Given the description of an element on the screen output the (x, y) to click on. 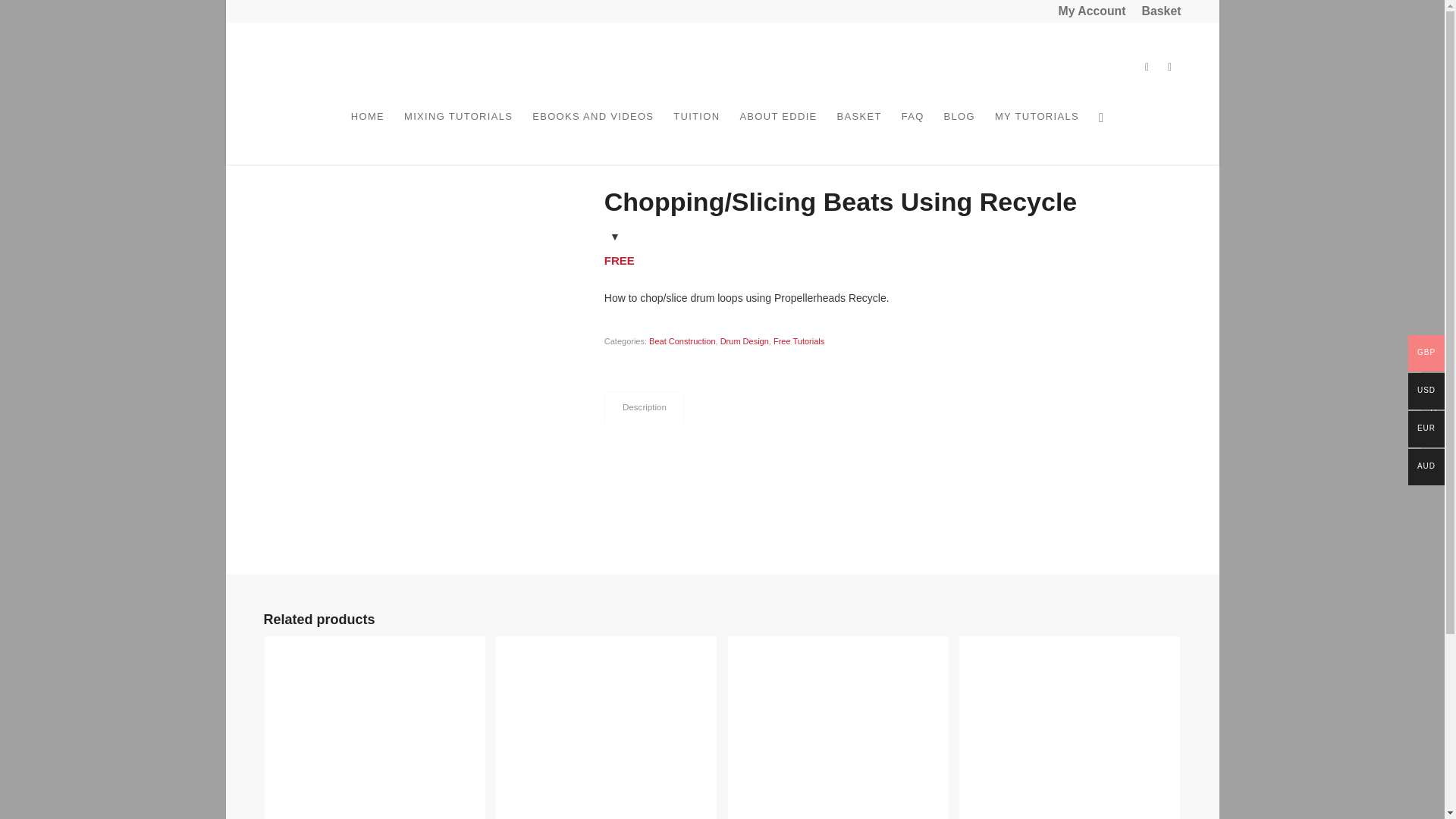
ABOUT EDDIE (778, 130)
HOME (367, 130)
MIXING TUTORIALS (458, 130)
FAQ (912, 130)
BLOG (959, 130)
TUITION (696, 130)
EBOOKS AND VIDEOS (592, 130)
Drum Design (744, 340)
Beat Construction (681, 340)
Free Tutorials (798, 340)
